Given the description of an element on the screen output the (x, y) to click on. 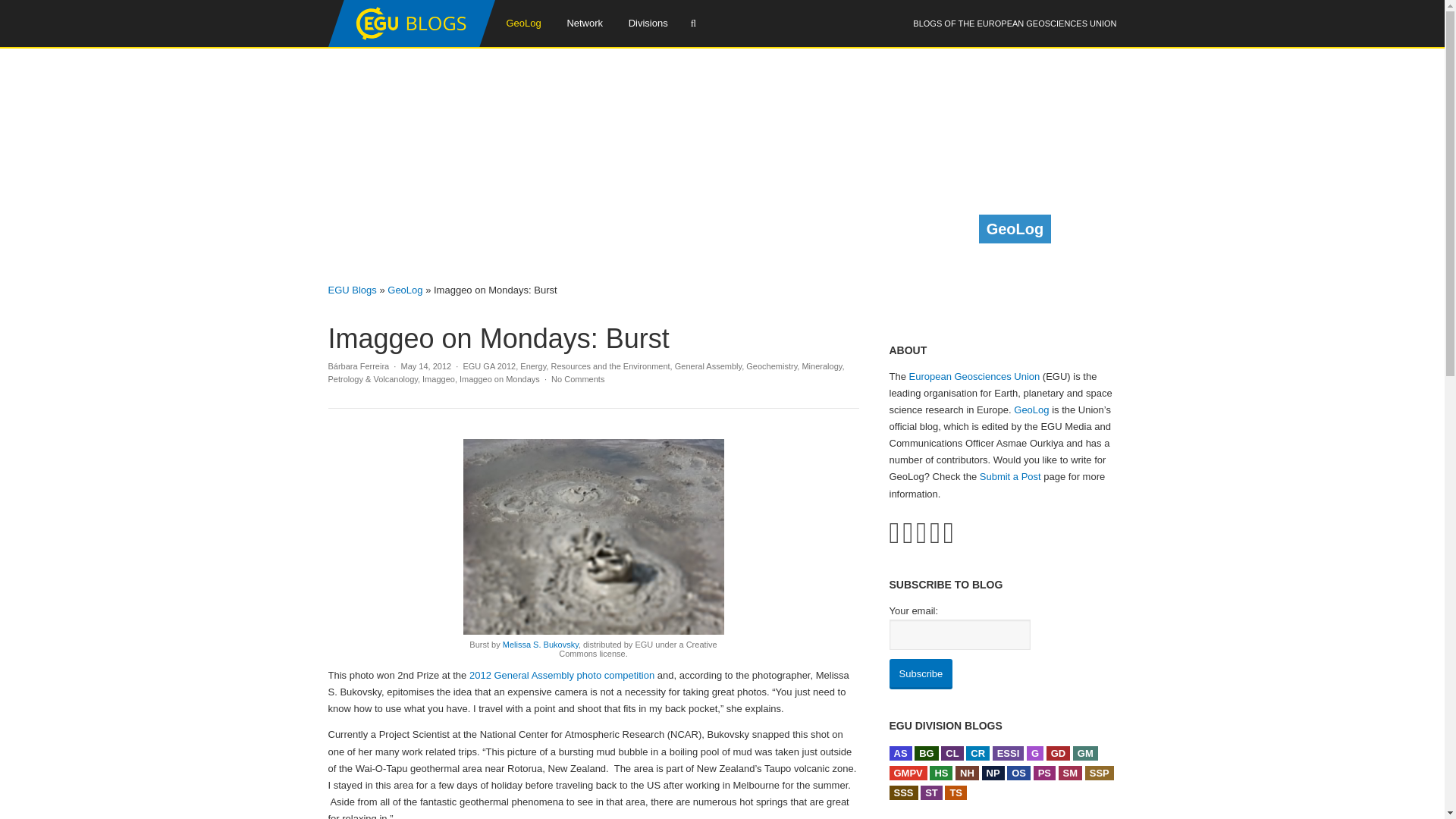
burst (593, 536)
Atmospheric Sciences (899, 753)
EGU Blogs (411, 43)
Follow us on Twitter (893, 532)
Network (584, 22)
Cryospheric Sciences (978, 753)
Find us on LinkedIn (935, 532)
Divisions (648, 22)
Biogeosciences (926, 753)
Find us on Instagram (948, 532)
EUROPEAN GEOSCIENCES UNION (1046, 22)
GeoLog (523, 22)
Find us on YouTube (920, 532)
Subscribe (920, 674)
Follow us on Facebook (907, 532)
